Given the description of an element on the screen output the (x, y) to click on. 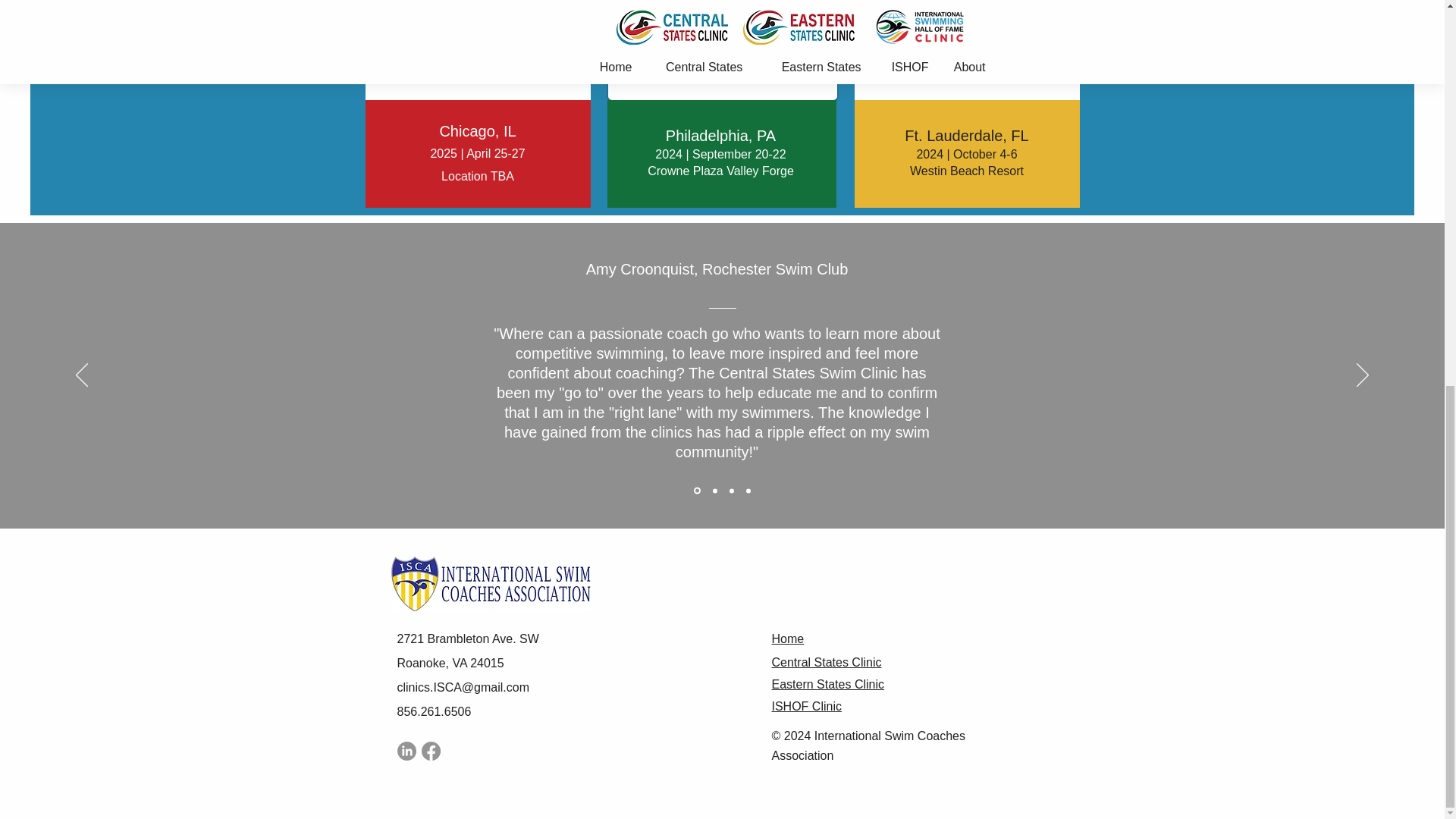
Eastern States Clinic (828, 684)
Central States Clinic (826, 662)
isca-logo-horizontal-jpg.jpg (489, 583)
Home (788, 638)
ISHOF Clinic (806, 706)
